Given the description of an element on the screen output the (x, y) to click on. 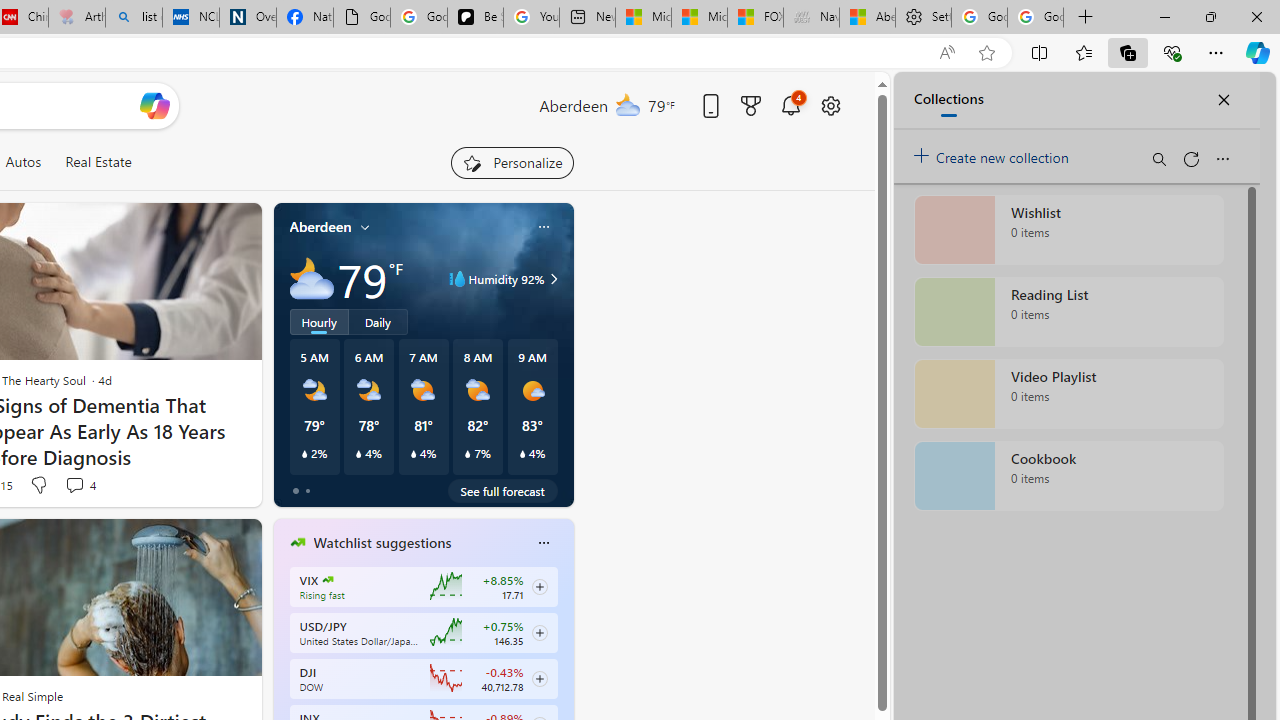
View comments 4 Comment (79, 484)
list of asthma inhalers uk - Search (134, 17)
Real Estate (98, 161)
tab-1 (306, 490)
Autos (22, 161)
You're following Newsweek (197, 490)
Class: follow-button  m (539, 678)
tab-0 (295, 490)
